Given the description of an element on the screen output the (x, y) to click on. 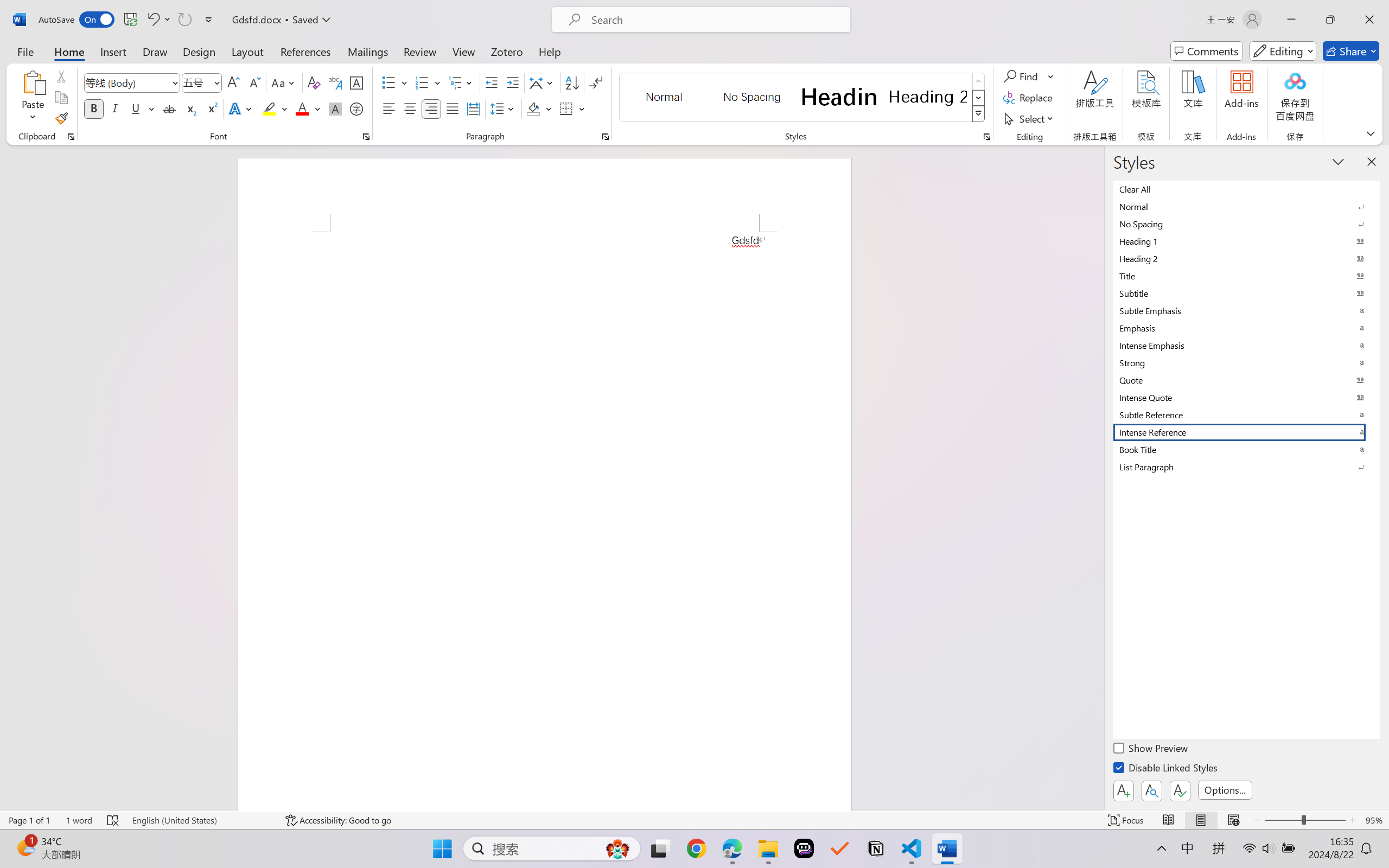
Strikethrough (169, 108)
Italic (115, 108)
Book Title (1246, 449)
Microsoft search (715, 19)
Show/Hide Editing Marks (595, 82)
Shading RGB(0, 0, 0) (533, 108)
Grow Font (233, 82)
Emphasis (1246, 327)
